Given the description of an element on the screen output the (x, y) to click on. 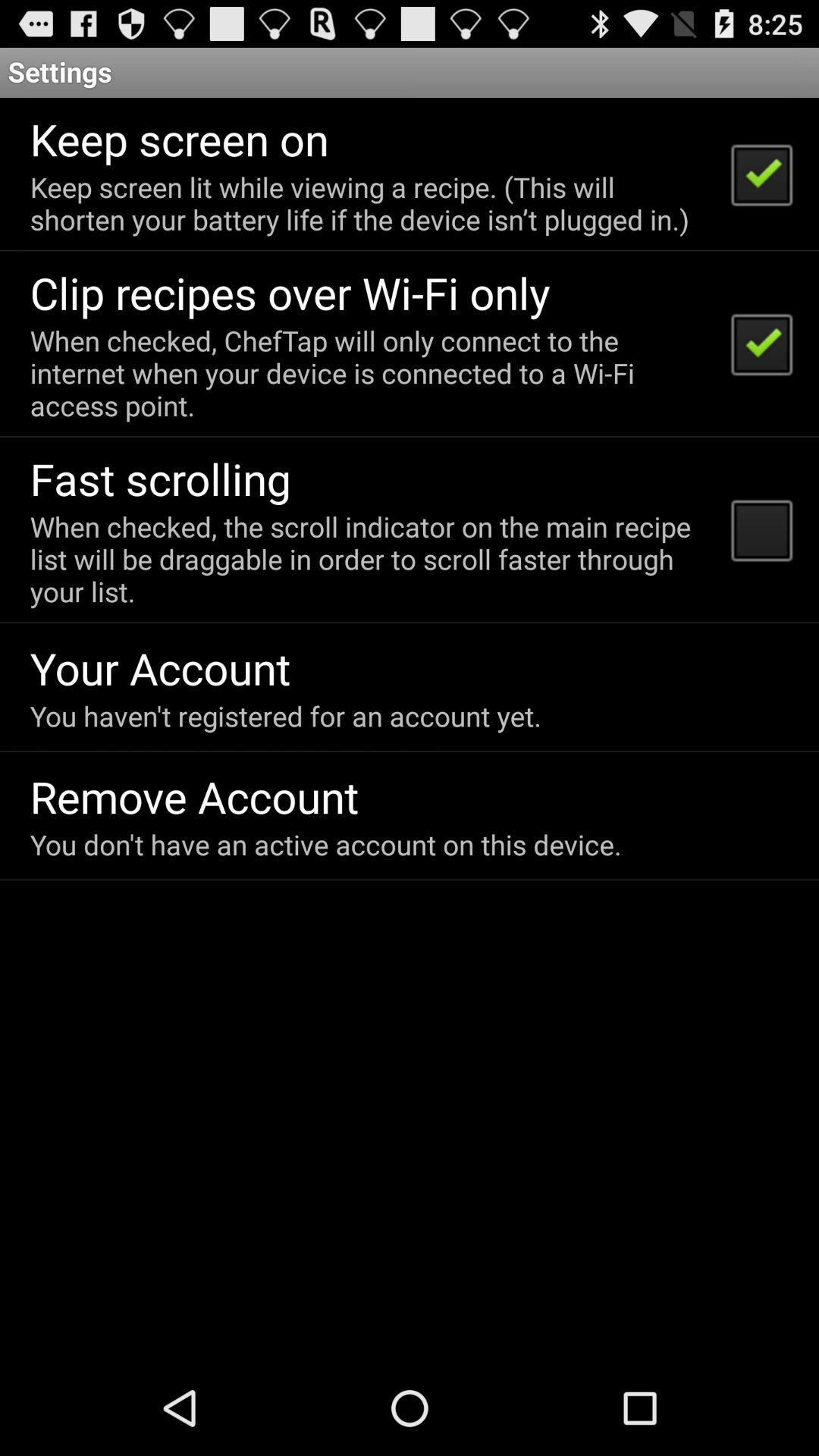
launch the your account item (160, 667)
